Given the description of an element on the screen output the (x, y) to click on. 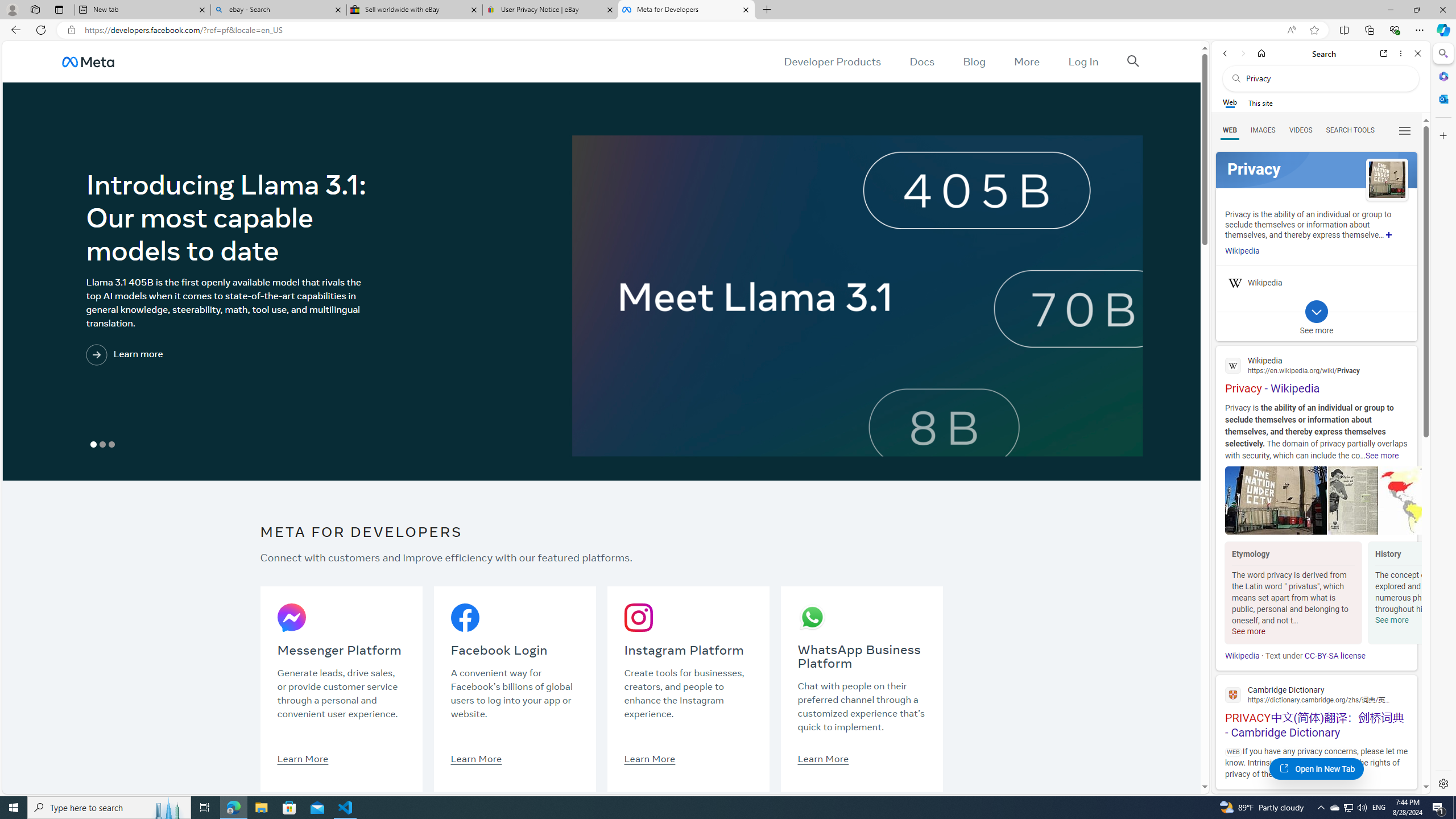
VIDEOS (1300, 130)
Class: b_exp_chevron_svg b_expmob_chev (1315, 311)
Wikipedia (1241, 655)
Docs (922, 61)
Class: b_serphb (1404, 130)
Class: spl_logobg (1315, 169)
Show Slide 2 (102, 444)
Learn More (822, 758)
